Given the description of an element on the screen output the (x, y) to click on. 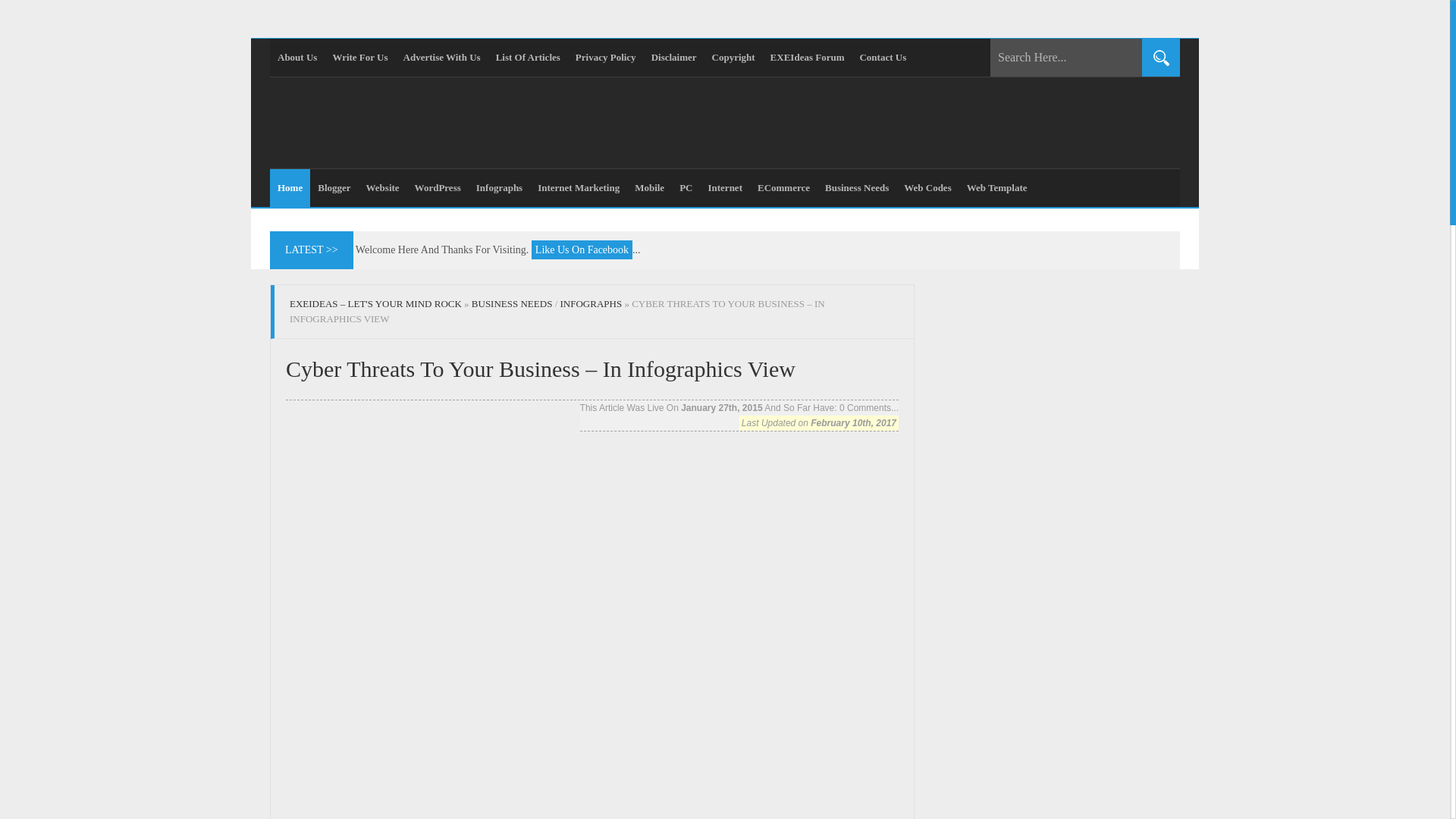
Internet (724, 187)
Copyright (733, 57)
Internet Marketing (578, 187)
About Us (296, 57)
Disclaimer (673, 57)
Like Us On Facebook (581, 249)
Advertise With Us (441, 57)
BUSINESS NEEDS (512, 303)
Privacy Policy (605, 57)
ECommerce (782, 187)
